Given the description of an element on the screen output the (x, y) to click on. 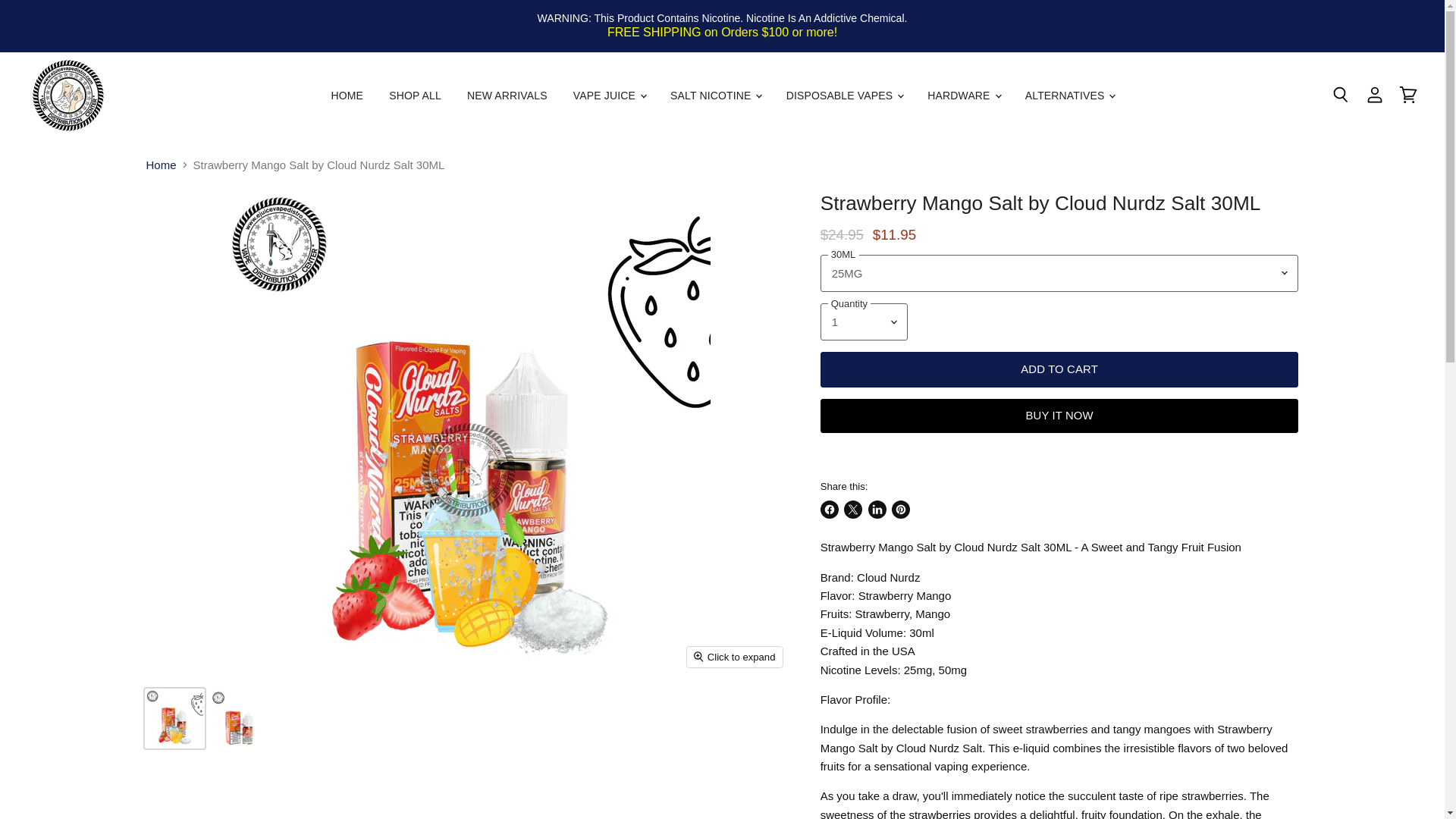
HOME (347, 95)
SHOP ALL (414, 95)
VAPE JUICE (609, 95)
NEW ARRIVALS (507, 95)
